Given the description of an element on the screen output the (x, y) to click on. 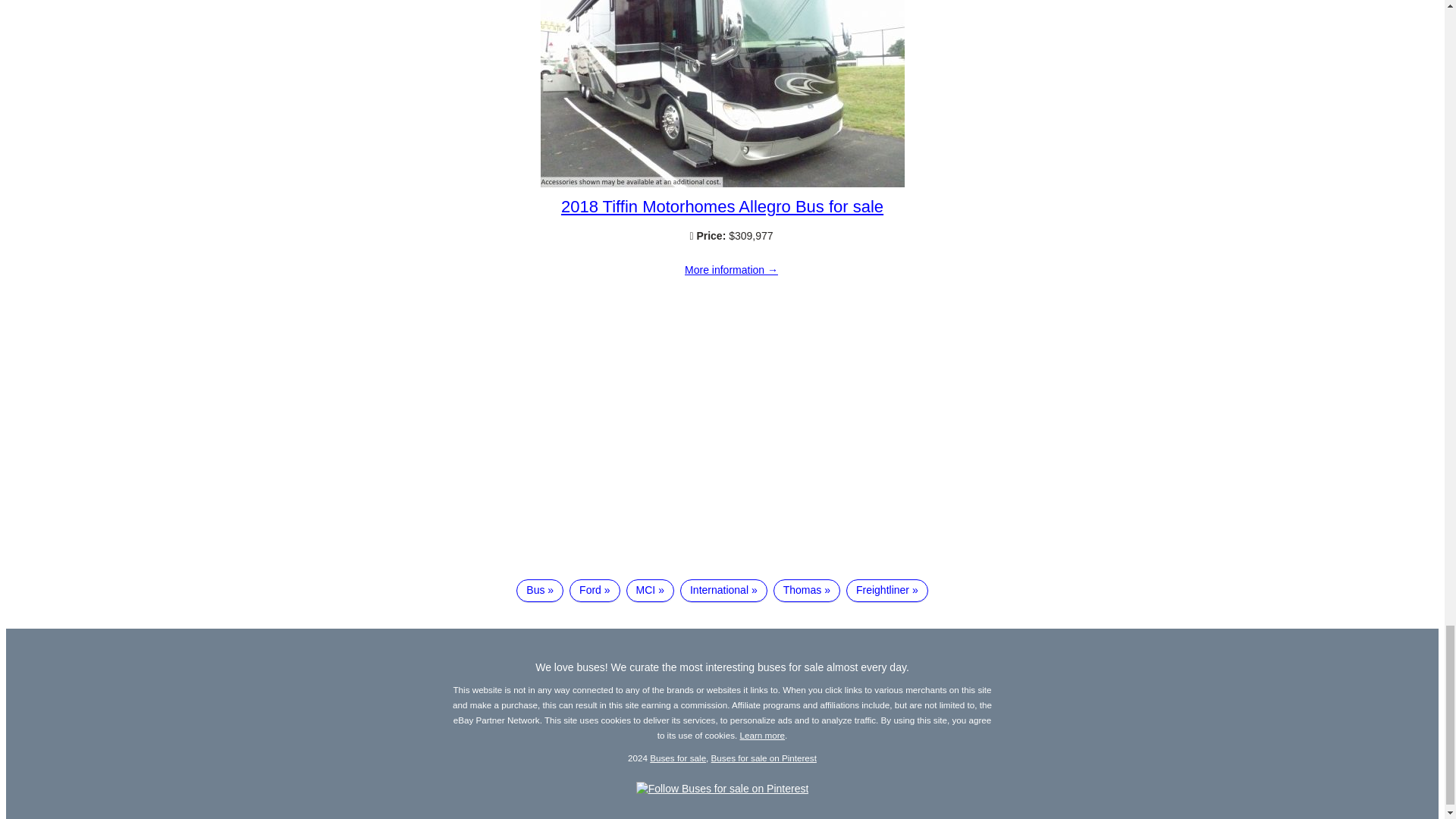
2018 Tiffin Motorhomes Allegro Bus for sale (721, 206)
Learn more (762, 735)
Buses for sale (677, 757)
Bus (539, 590)
2018 Tiffin Motorhomes Allegro Bus for sale (722, 183)
Freightliner (886, 590)
Thomas (806, 590)
Buses for sale on Pinterest (763, 757)
2018 Tiffin Motorhomes Allegro Bus for sale (731, 270)
MCI (650, 590)
Follow Buses for sale on Pinterest (722, 788)
International (723, 590)
Ford (594, 590)
